Given the description of an element on the screen output the (x, y) to click on. 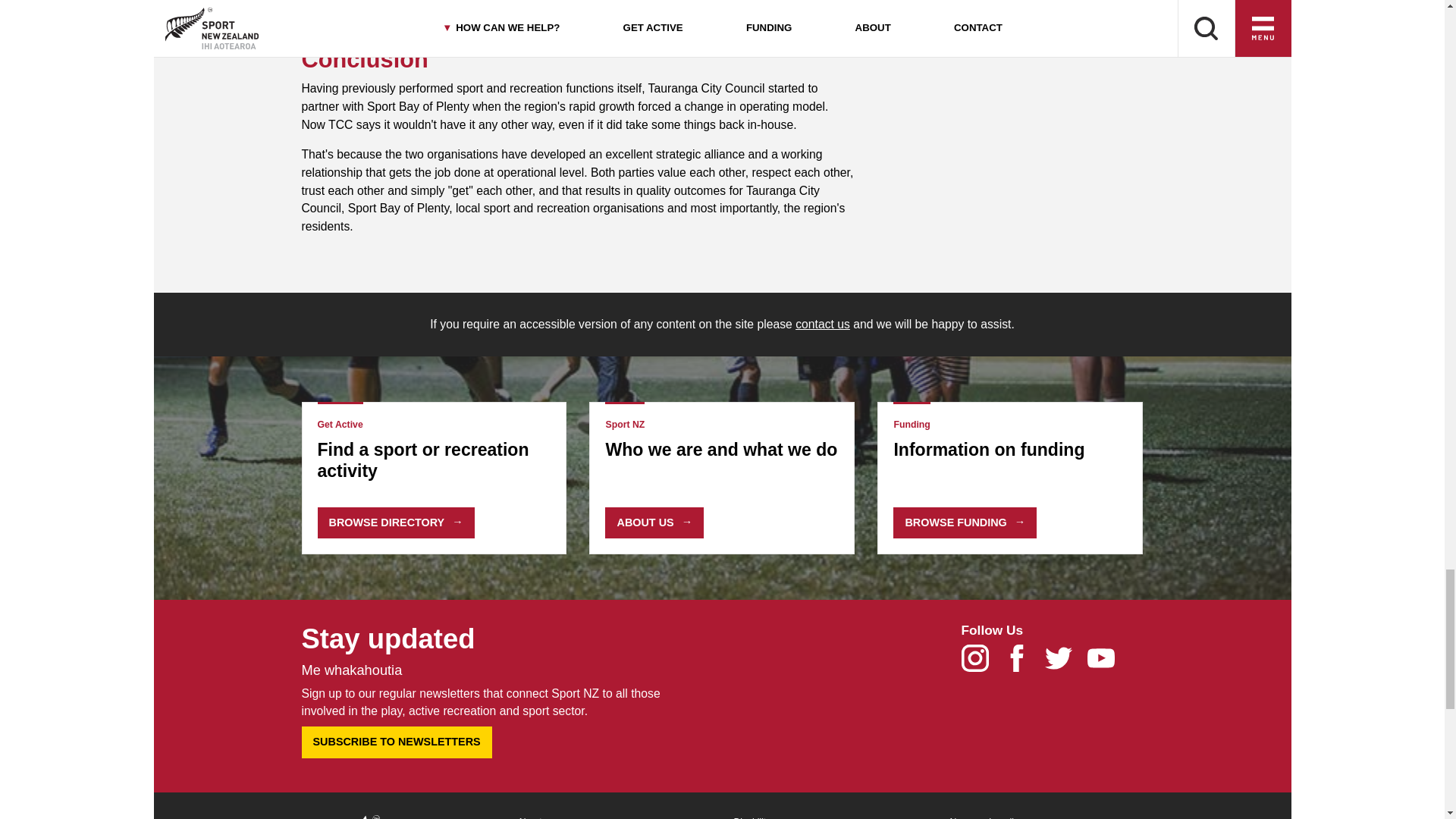
Facebook (1024, 662)
Twitter (1065, 662)
YouTube (1106, 662)
Instagram (981, 662)
